Given the description of an element on the screen output the (x, y) to click on. 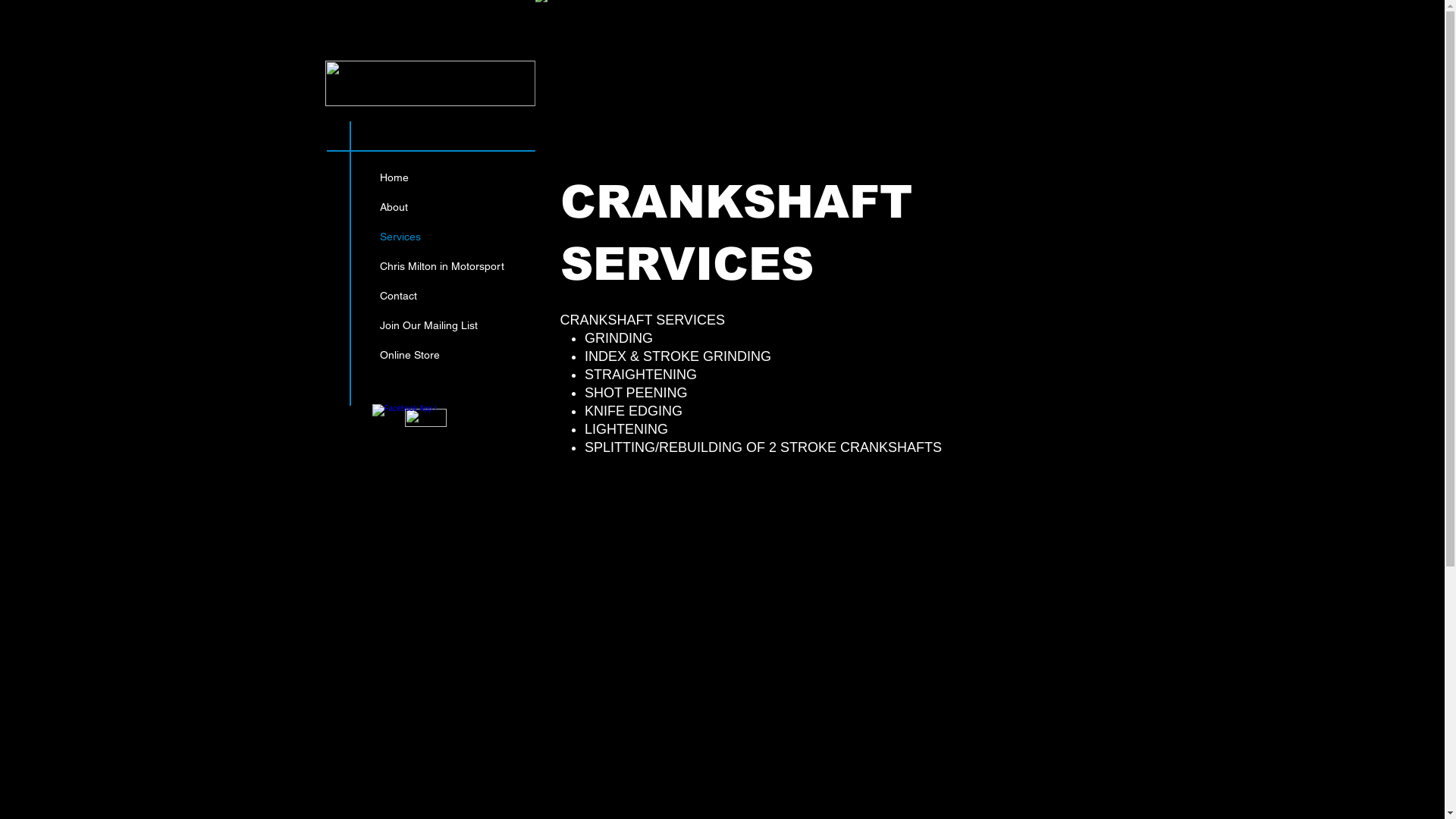
Chris Milton in Motorsport Element type: text (440, 266)
Home Element type: text (440, 177)
Join Our Mailing List Element type: text (440, 325)
Online Store Element type: text (440, 355)
Contact Element type: text (440, 295)
About Element type: text (440, 207)
chris milton no web white.png Element type: hover (429, 83)
Services Element type: text (440, 236)
